Given the description of an element on the screen output the (x, y) to click on. 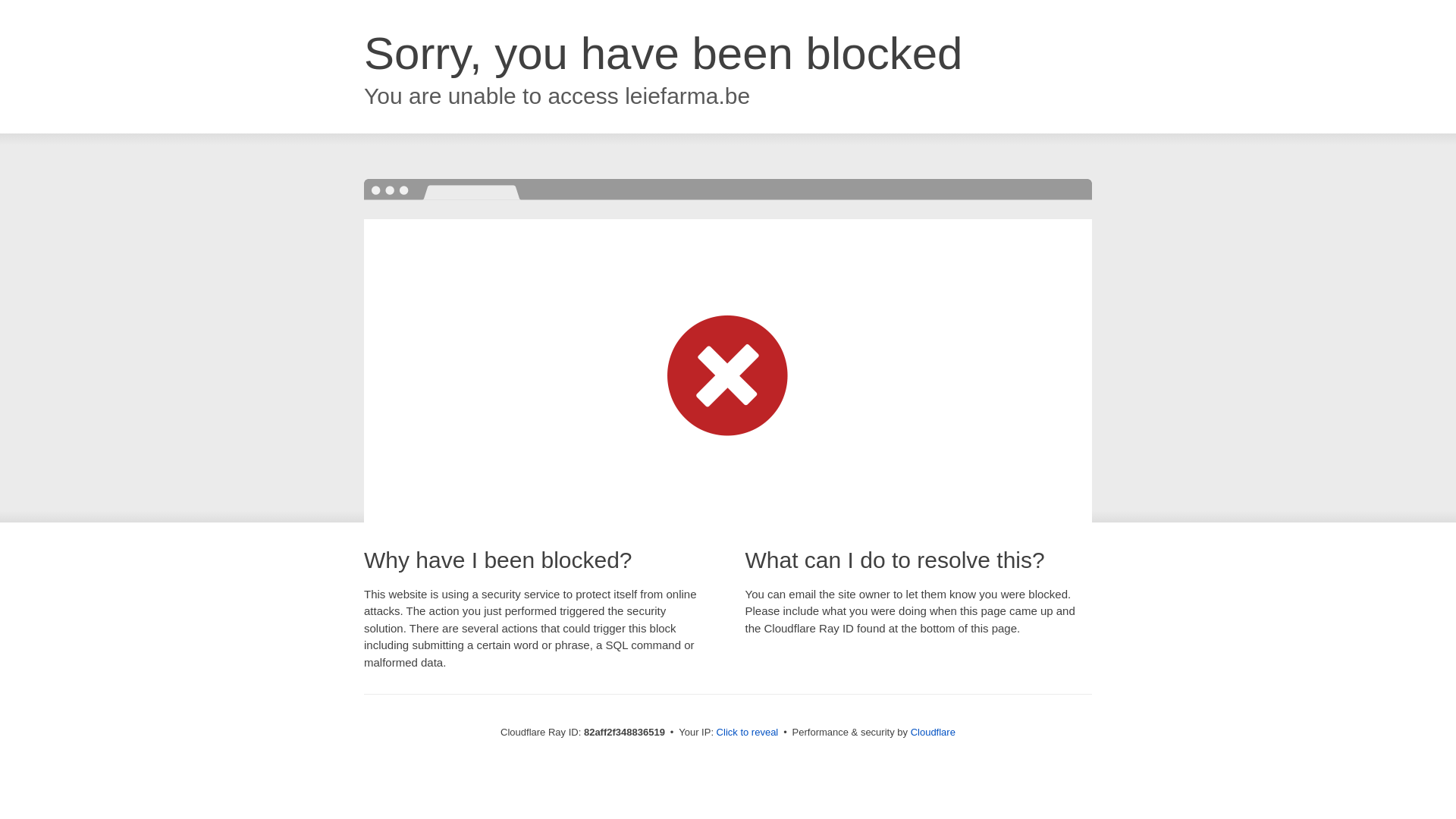
Click to reveal Element type: text (747, 732)
Cloudflare Element type: text (932, 731)
